Given the description of an element on the screen output the (x, y) to click on. 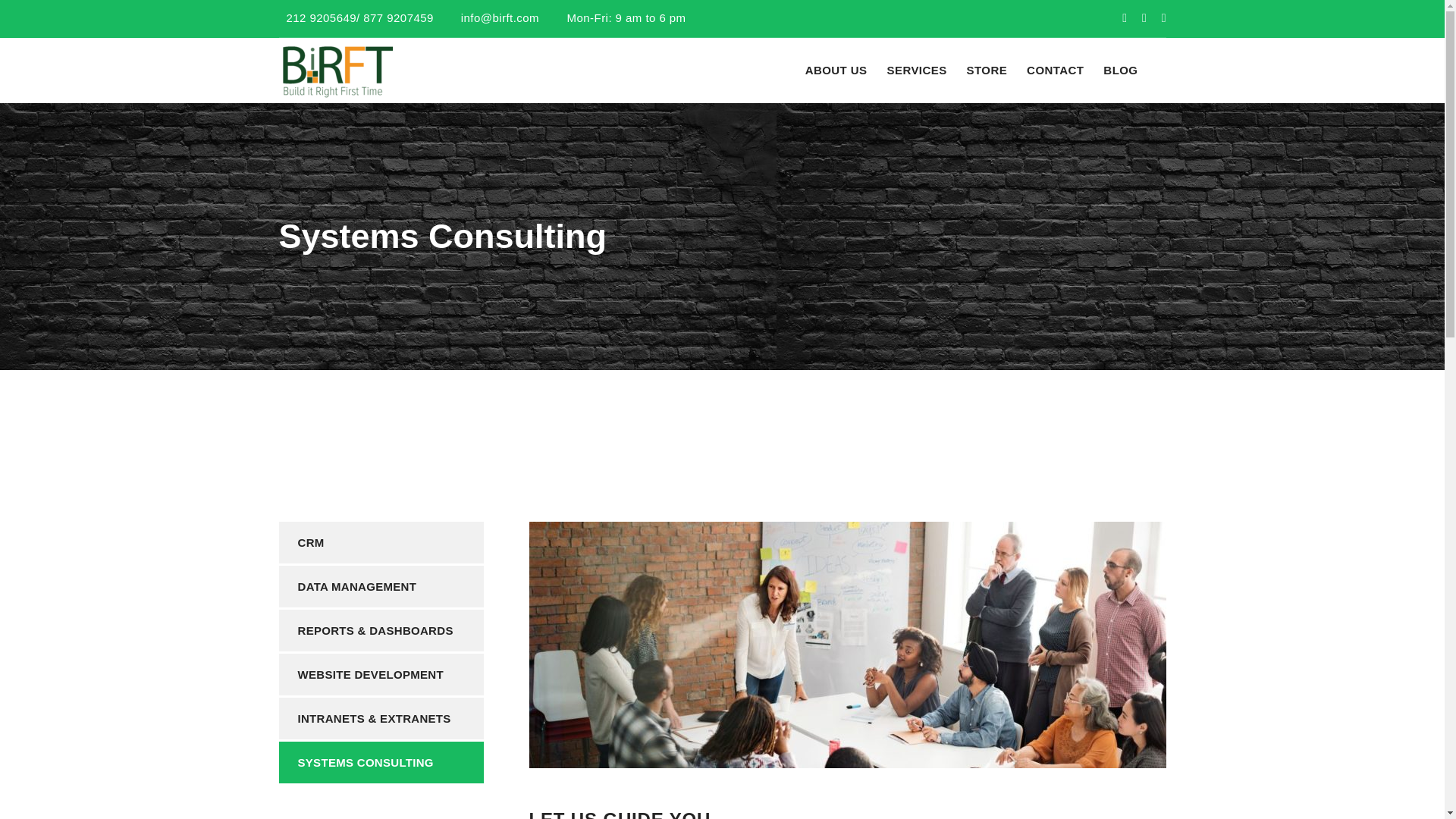
WEBSITE DEVELOPMENT (381, 674)
Mon-Fri: 9 am to 6 pm (622, 17)
ABOUT US (836, 69)
SYSTEMS CONSULTING (381, 762)
SERVICES (916, 69)
CRM (381, 542)
DATA MANAGEMENT (381, 586)
